Given the description of an element on the screen output the (x, y) to click on. 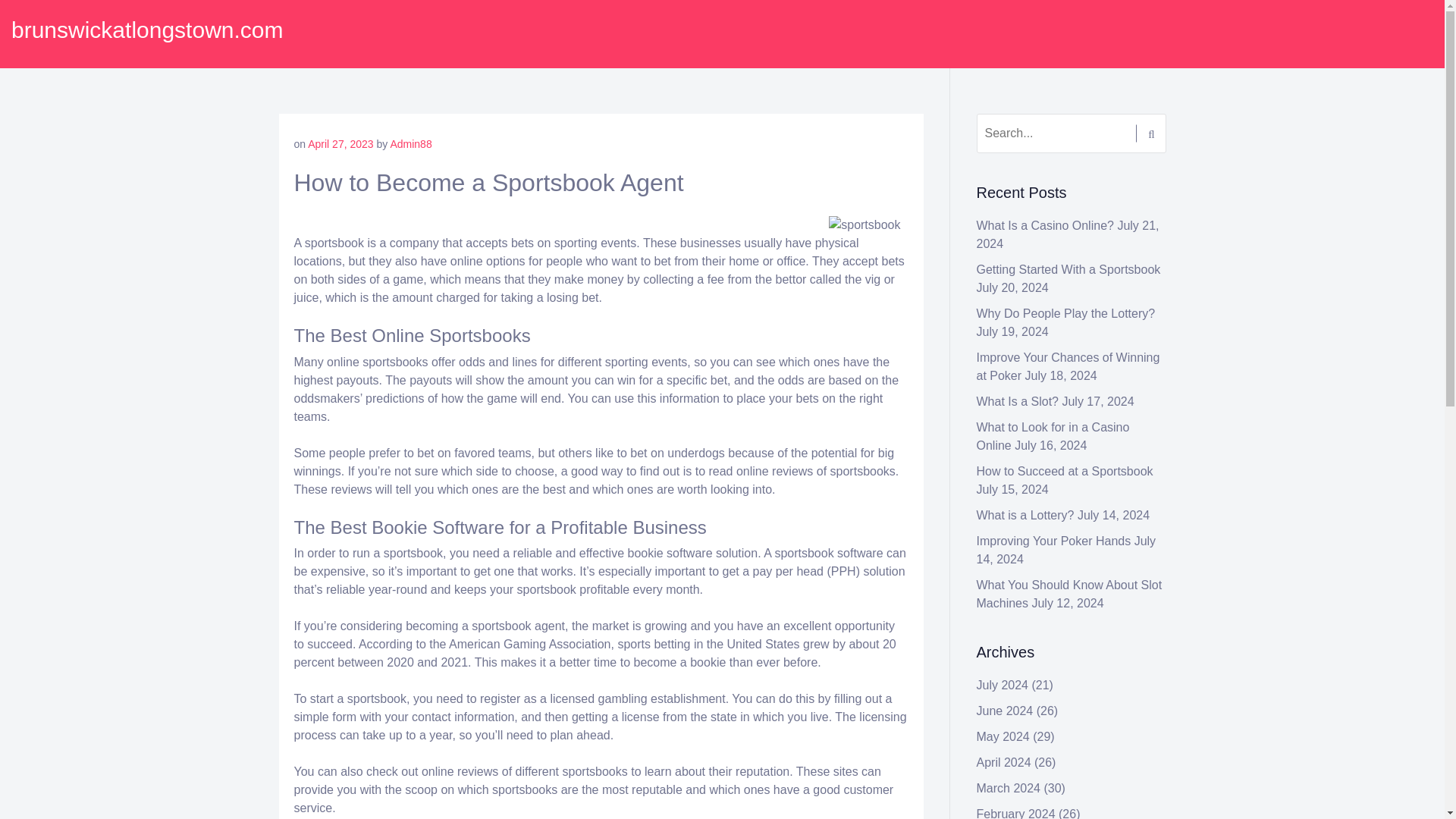
Getting Started With a Sportsbook (1068, 269)
What Is a Casino Online? (1044, 225)
July 2024 (1002, 684)
May 2024 (1002, 736)
What to Look for in a Casino Online (1052, 436)
April 27, 2023 (339, 143)
Admin88 (410, 143)
How to Succeed at a Sportsbook (1064, 471)
Improve Your Chances of Winning at Poker (1068, 366)
What Is a Slot? (1017, 400)
